Given the description of an element on the screen output the (x, y) to click on. 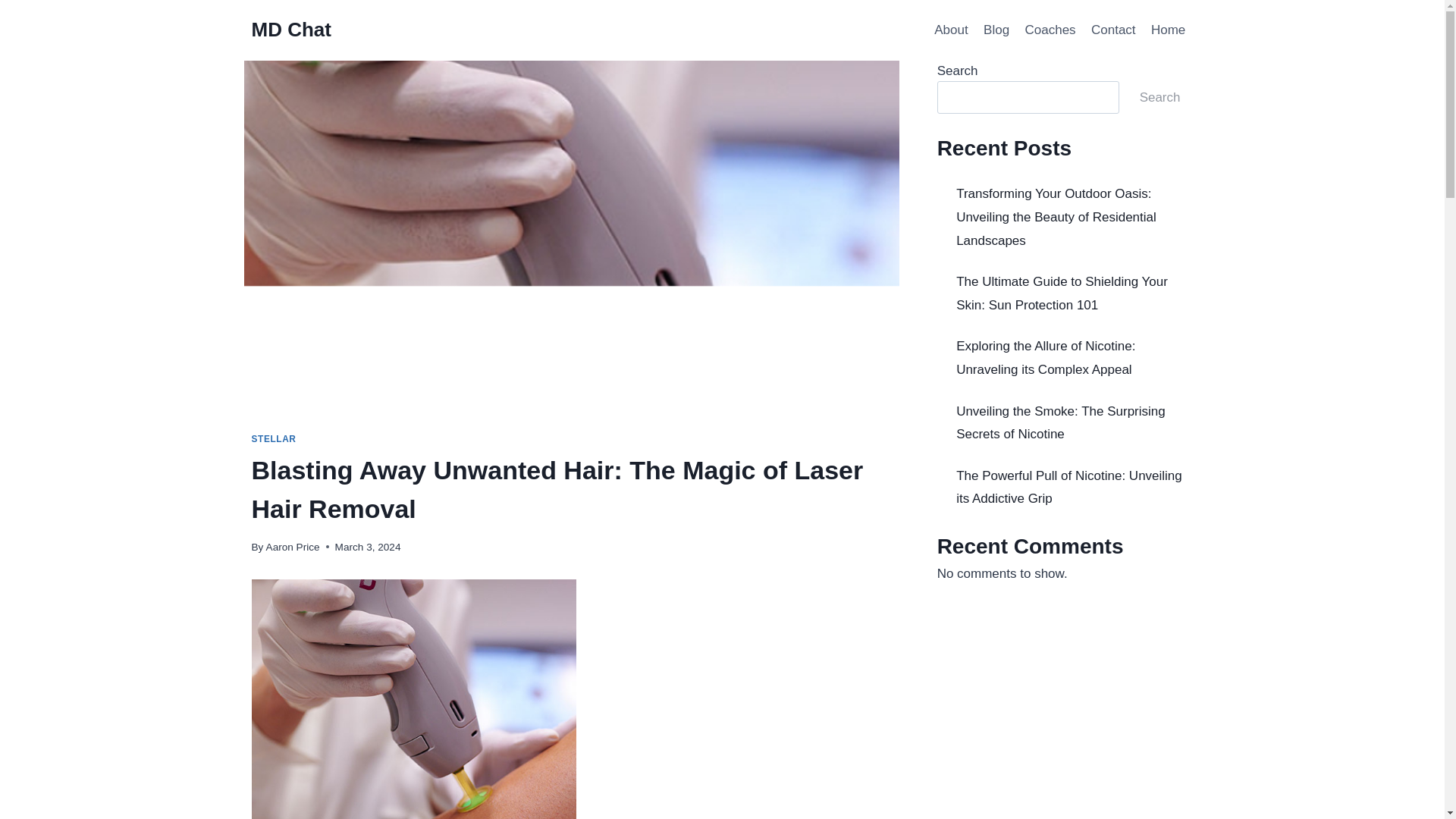
Aaron Price (293, 546)
Home (1167, 30)
MD Chat (291, 29)
Blog (995, 30)
Coaches (1049, 30)
Contact (1112, 30)
STELLAR (274, 439)
About (950, 30)
Search (1159, 97)
